Given the description of an element on the screen output the (x, y) to click on. 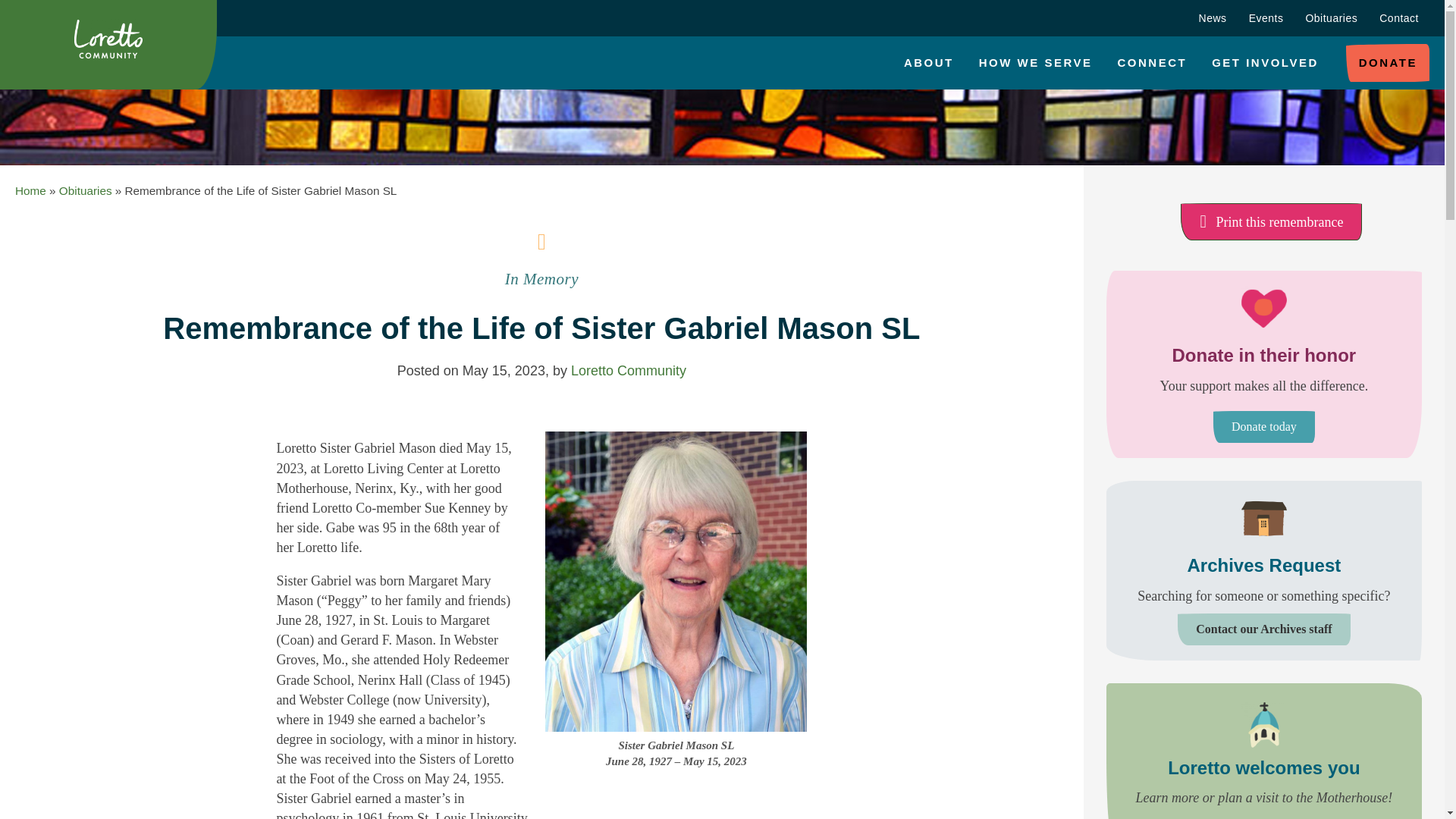
News (1212, 18)
Contact (1398, 18)
HOW WE SERVE (1035, 62)
Cabin-Icon (1264, 518)
ABOUT (928, 62)
Events (1266, 18)
Obituaries (1331, 18)
Heart-Icon (1264, 308)
